Given the description of an element on the screen output the (x, y) to click on. 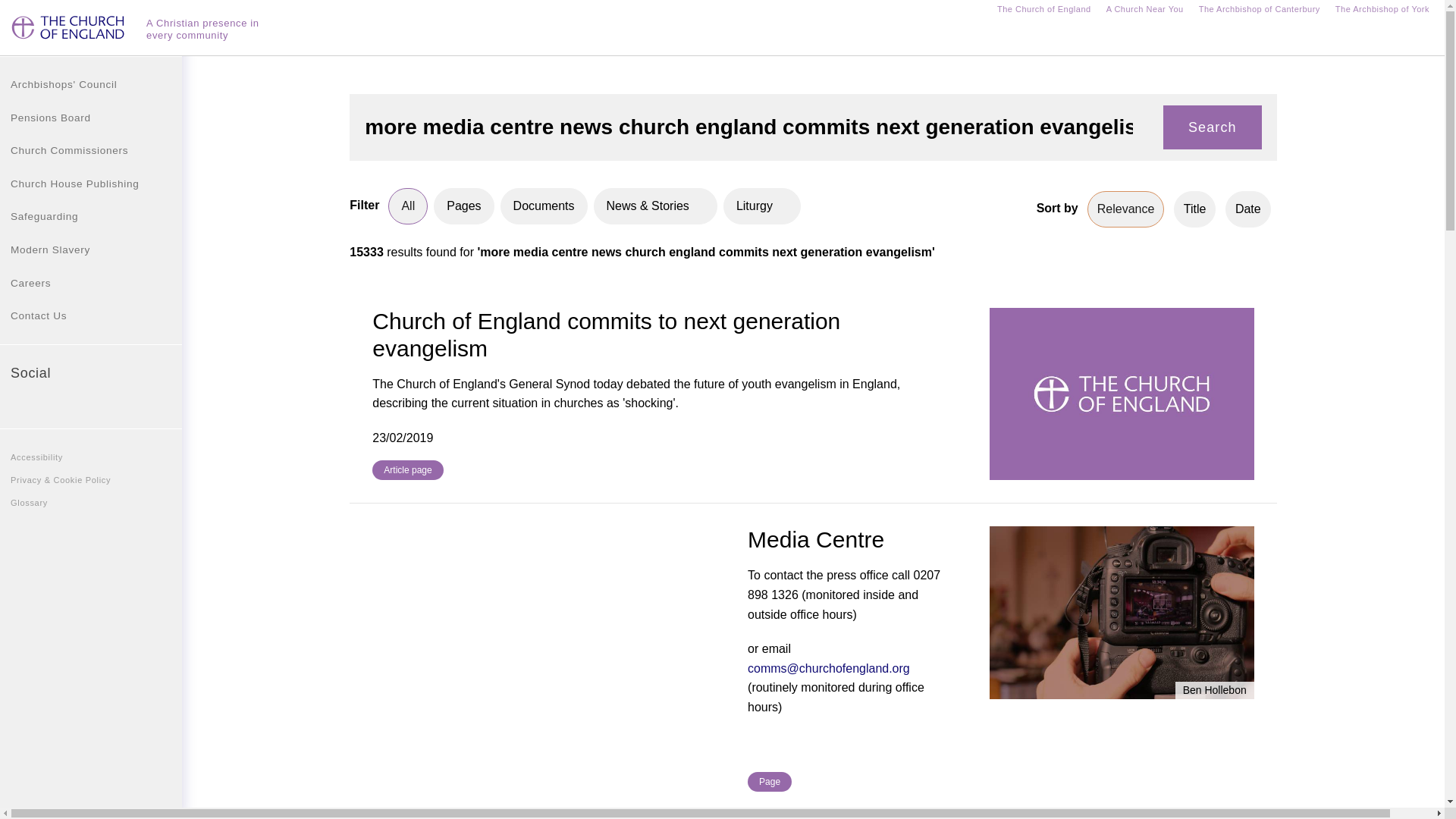
Safeguarding  (91, 216)
Pensions Board (91, 118)
Church House Publishing (91, 183)
Safeguarding (91, 216)
Careers (91, 283)
The Church of England (1043, 10)
Liturgy (761, 206)
Home (69, 33)
